Given the description of an element on the screen output the (x, y) to click on. 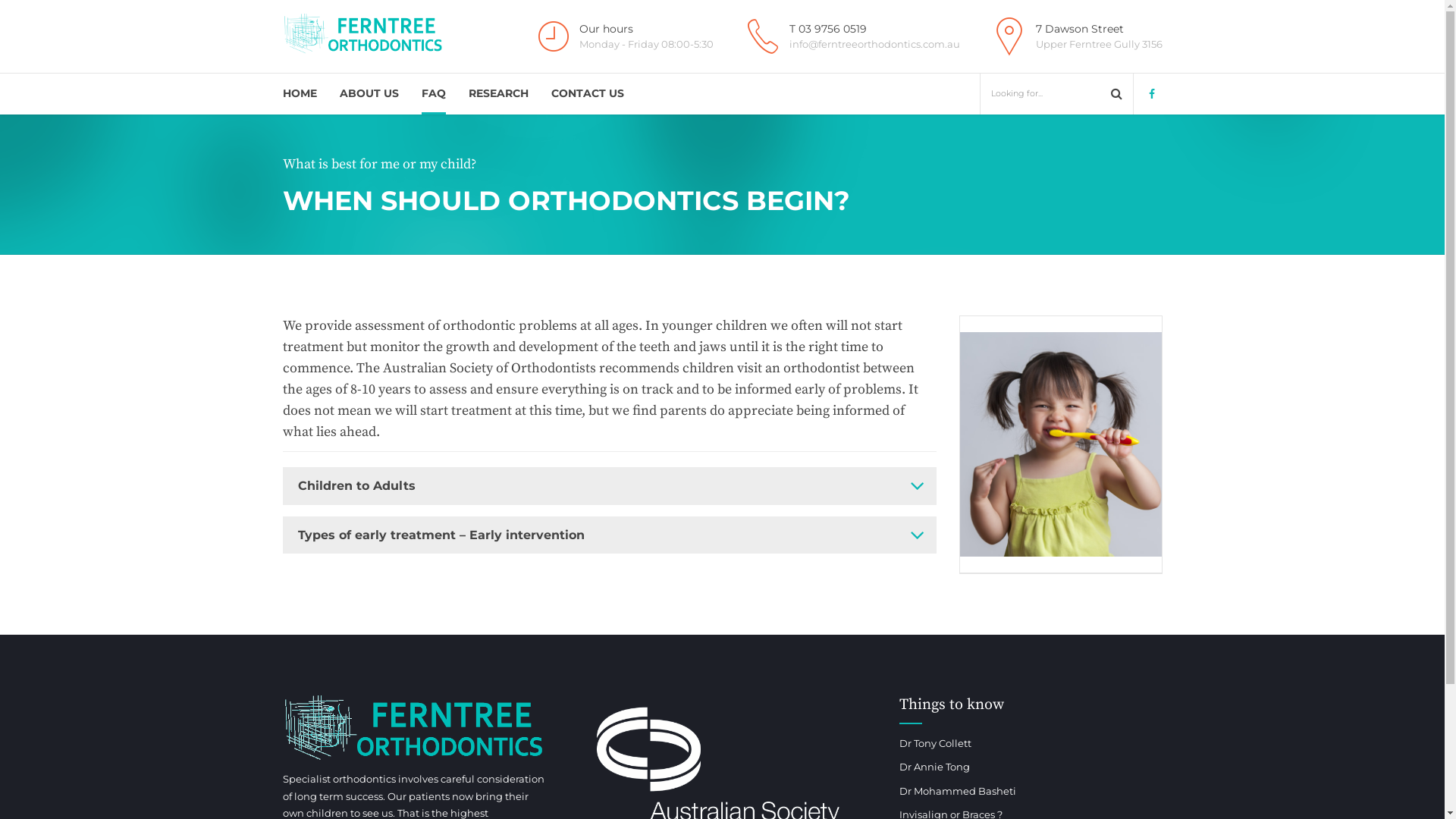
T 03 9756 0519
info@ferntreeorthodontics.com.au Element type: text (850, 36)
HOME Element type: text (299, 93)
ABOUT US Element type: text (368, 93)
Dr Annie Tong Element type: text (934, 766)
FAQ Element type: text (433, 93)
Dr Mohammed Basheti Element type: text (957, 790)
RESEARCH Element type: text (498, 93)
CONTACT US Element type: text (586, 93)
Dr Tony Collett Element type: text (935, 743)
